Given the description of an element on the screen output the (x, y) to click on. 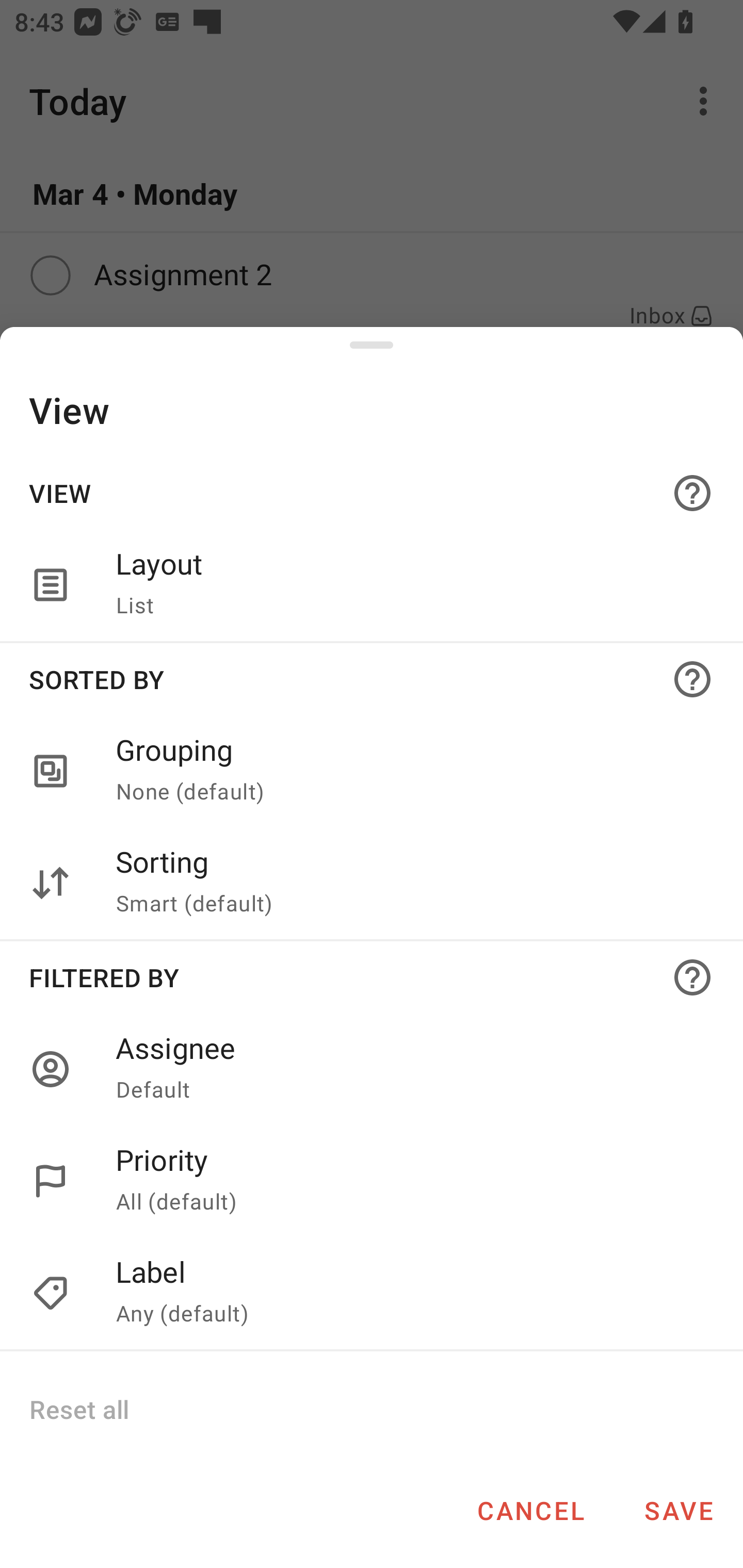
Layout List (371, 585)
Layout List (407, 585)
SORTED BY (371, 678)
Grouping None (default) (371, 771)
Grouping None (default) (407, 771)
Sorting Smart (default) (371, 883)
Sorting Smart (default) (407, 883)
FILTERED BY (371, 976)
Assignee Default (371, 1068)
Assignee Default (407, 1068)
Priority All (default) (371, 1181)
Priority All (default) (407, 1181)
Label Any (default) (371, 1293)
Label Any (default) (407, 1293)
Reset all (78, 1408)
CANCEL (530, 1510)
SAVE (678, 1510)
